Given the description of an element on the screen output the (x, y) to click on. 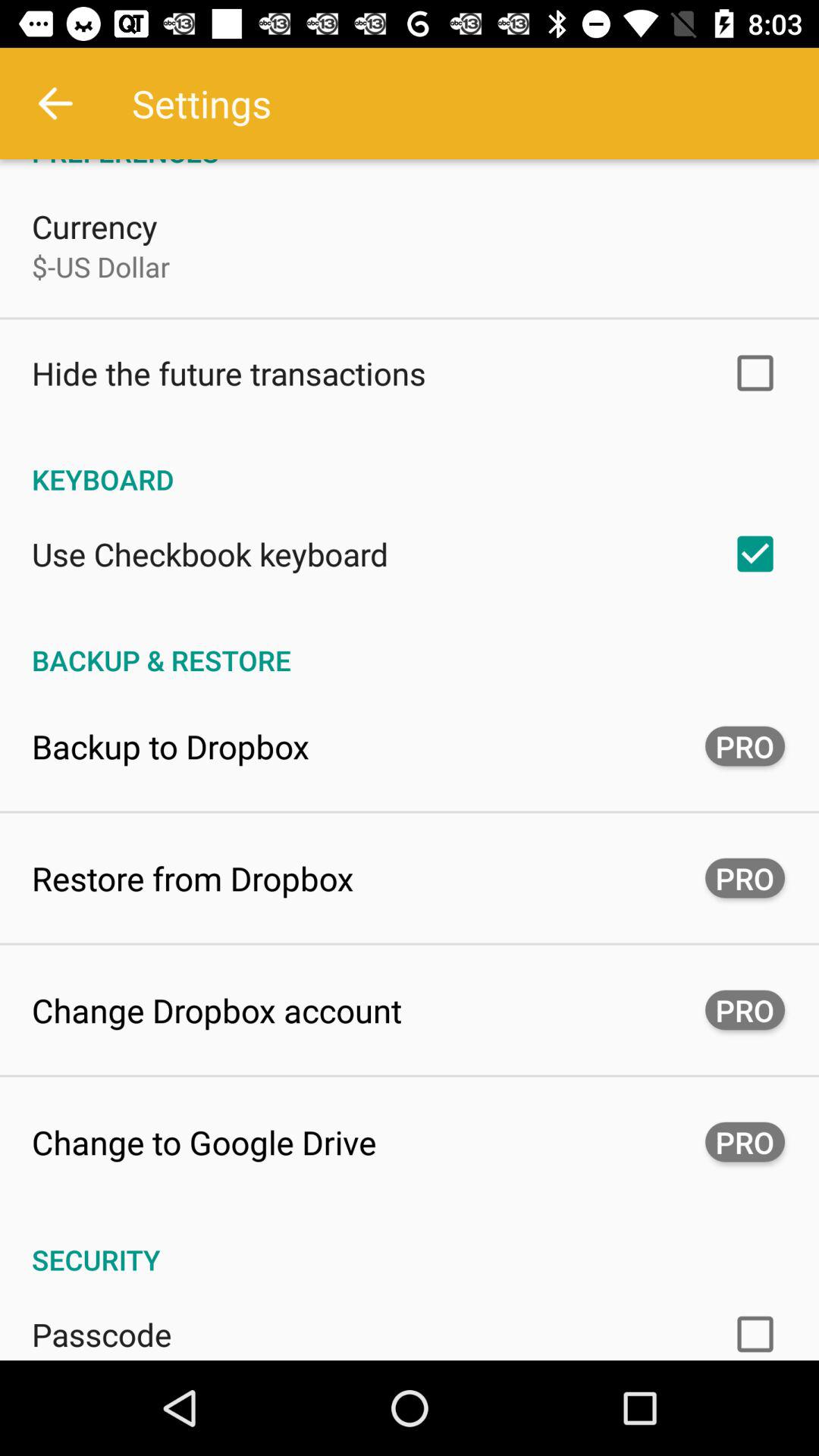
swipe until the $-us dollar app (100, 266)
